Given the description of an element on the screen output the (x, y) to click on. 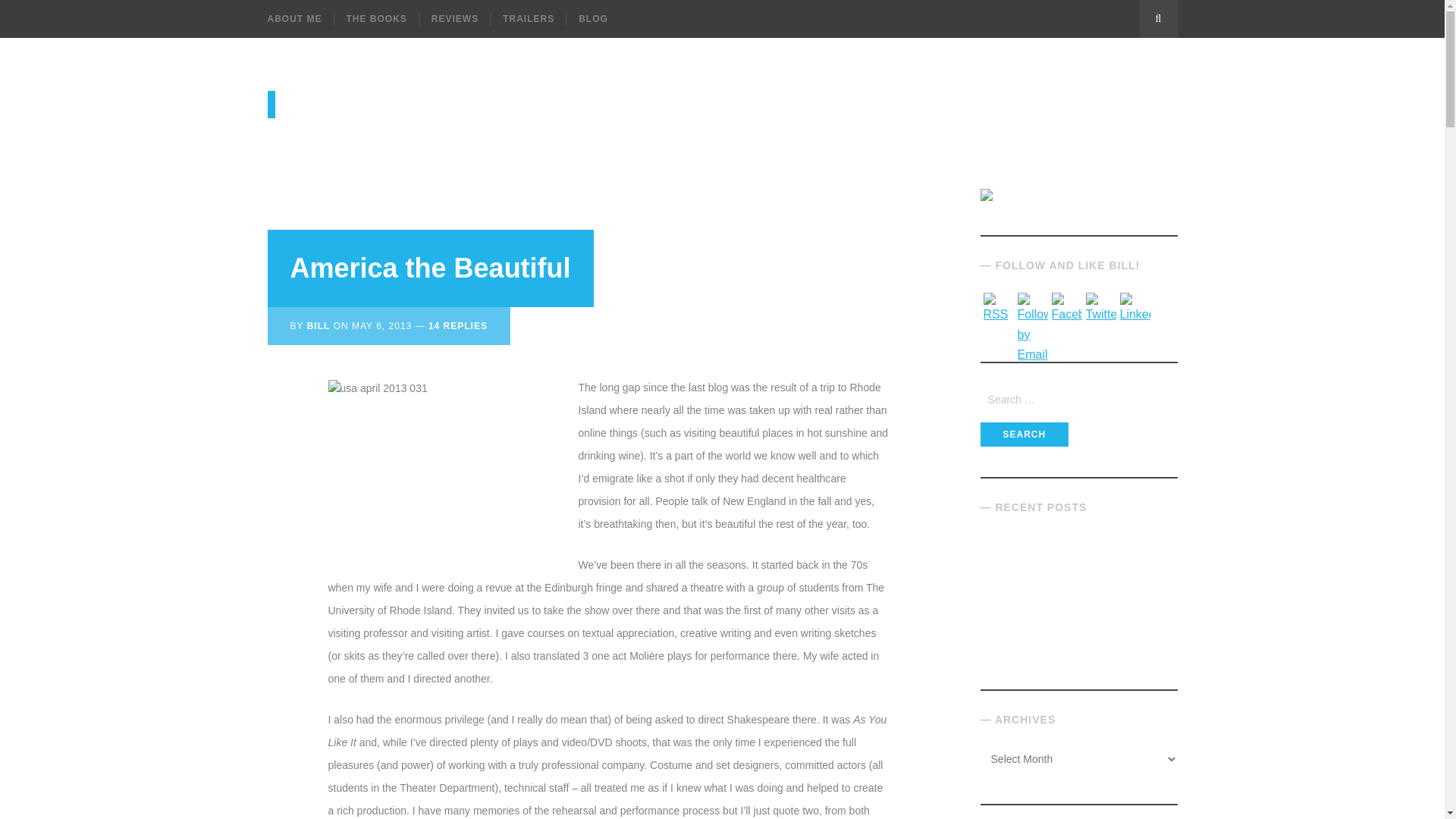
BILL KIRTON, AUTHOR (429, 103)
14 REPLIES (457, 326)
Search (1023, 434)
Facebook (1066, 308)
TRAILERS (527, 18)
BILL (318, 326)
REVIEWS (454, 18)
THE BOOKS (376, 18)
Search (1157, 18)
Search (1023, 434)
